Given the description of an element on the screen output the (x, y) to click on. 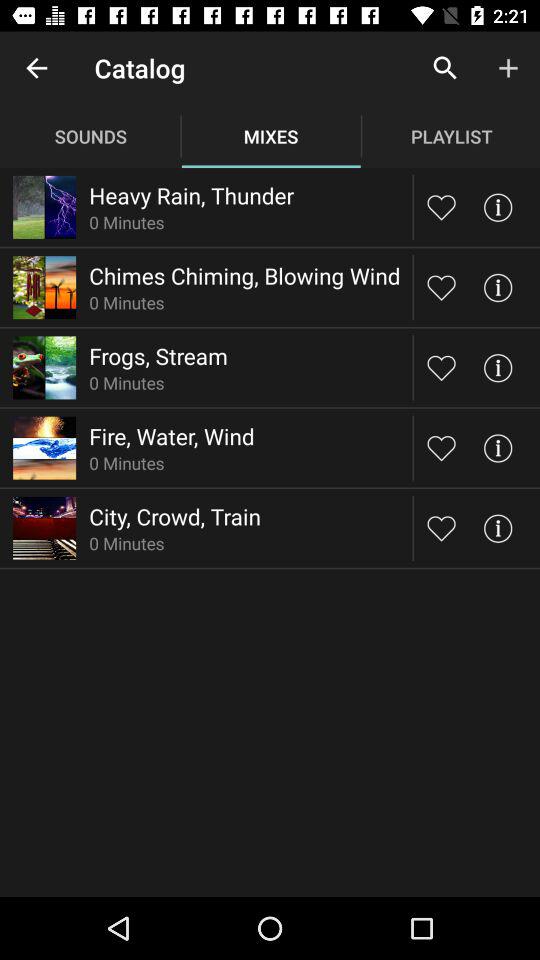
click the icon to the right of mixes (444, 67)
